Given the description of an element on the screen output the (x, y) to click on. 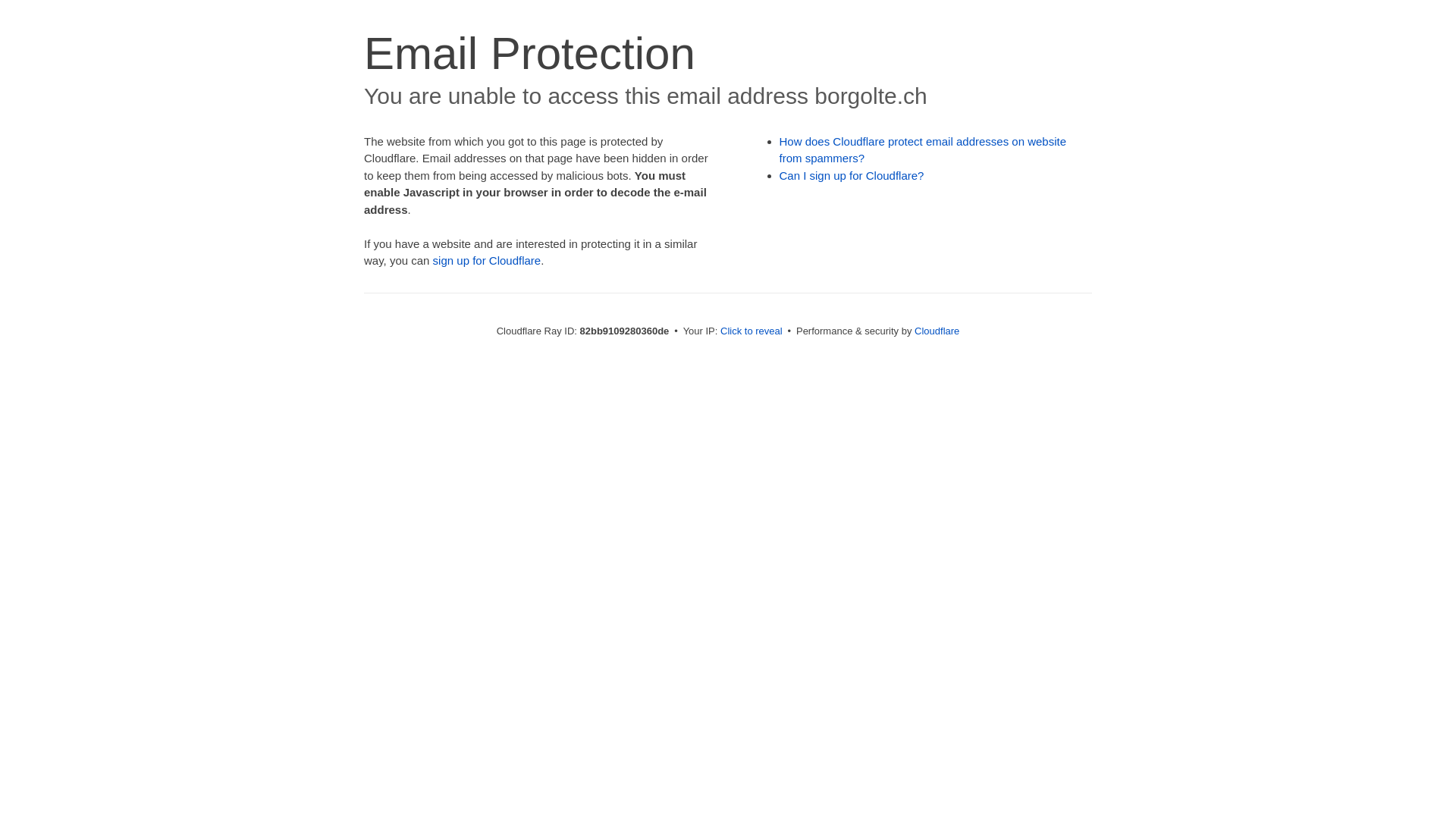
Click to reveal Element type: text (751, 330)
sign up for Cloudflare Element type: text (487, 260)
Cloudflare Element type: text (936, 330)
Can I sign up for Cloudflare? Element type: text (851, 175)
